Given the description of an element on the screen output the (x, y) to click on. 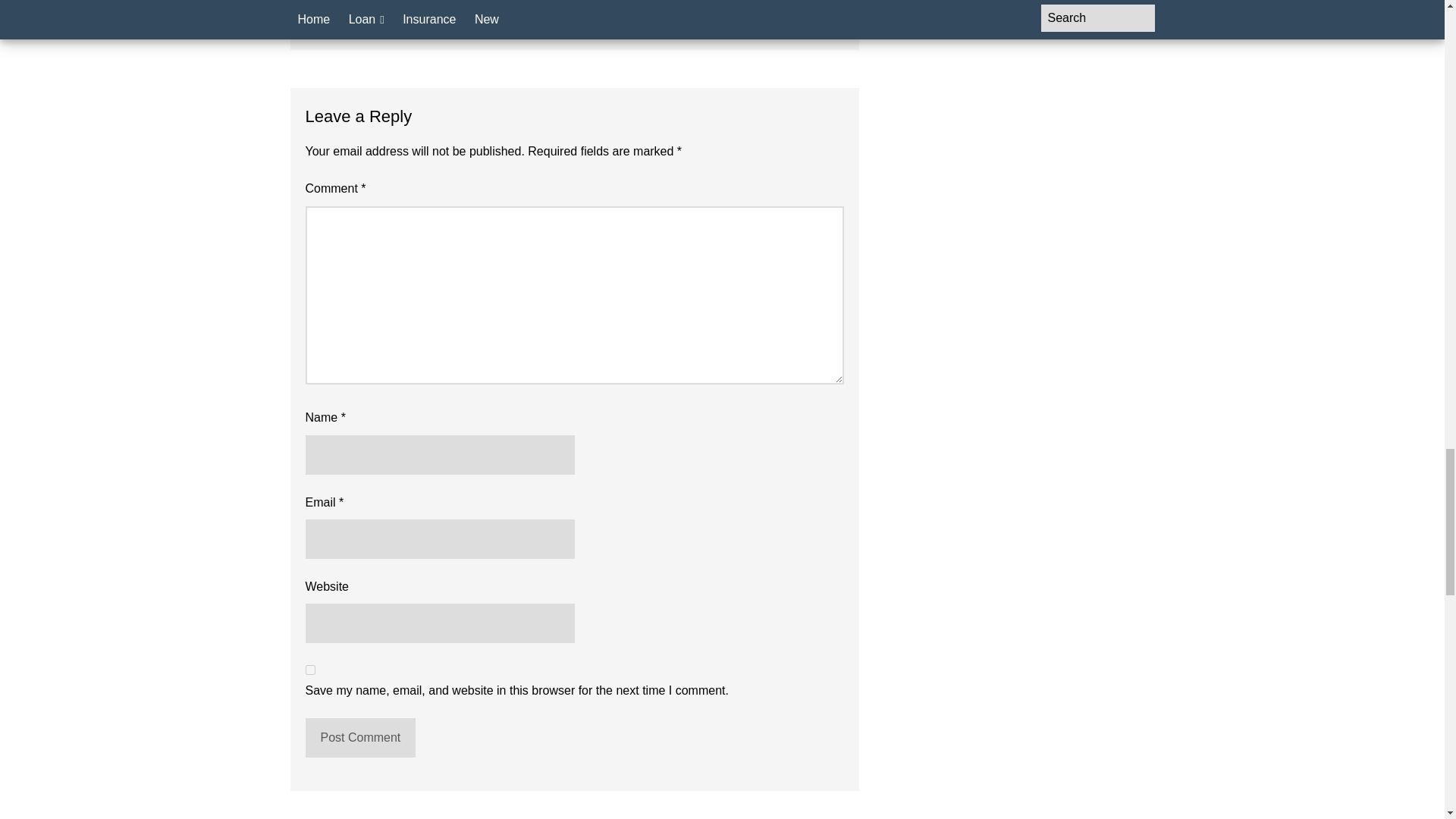
Post Comment (359, 737)
Post Comment (359, 737)
yes (309, 669)
